Given the description of an element on the screen output the (x, y) to click on. 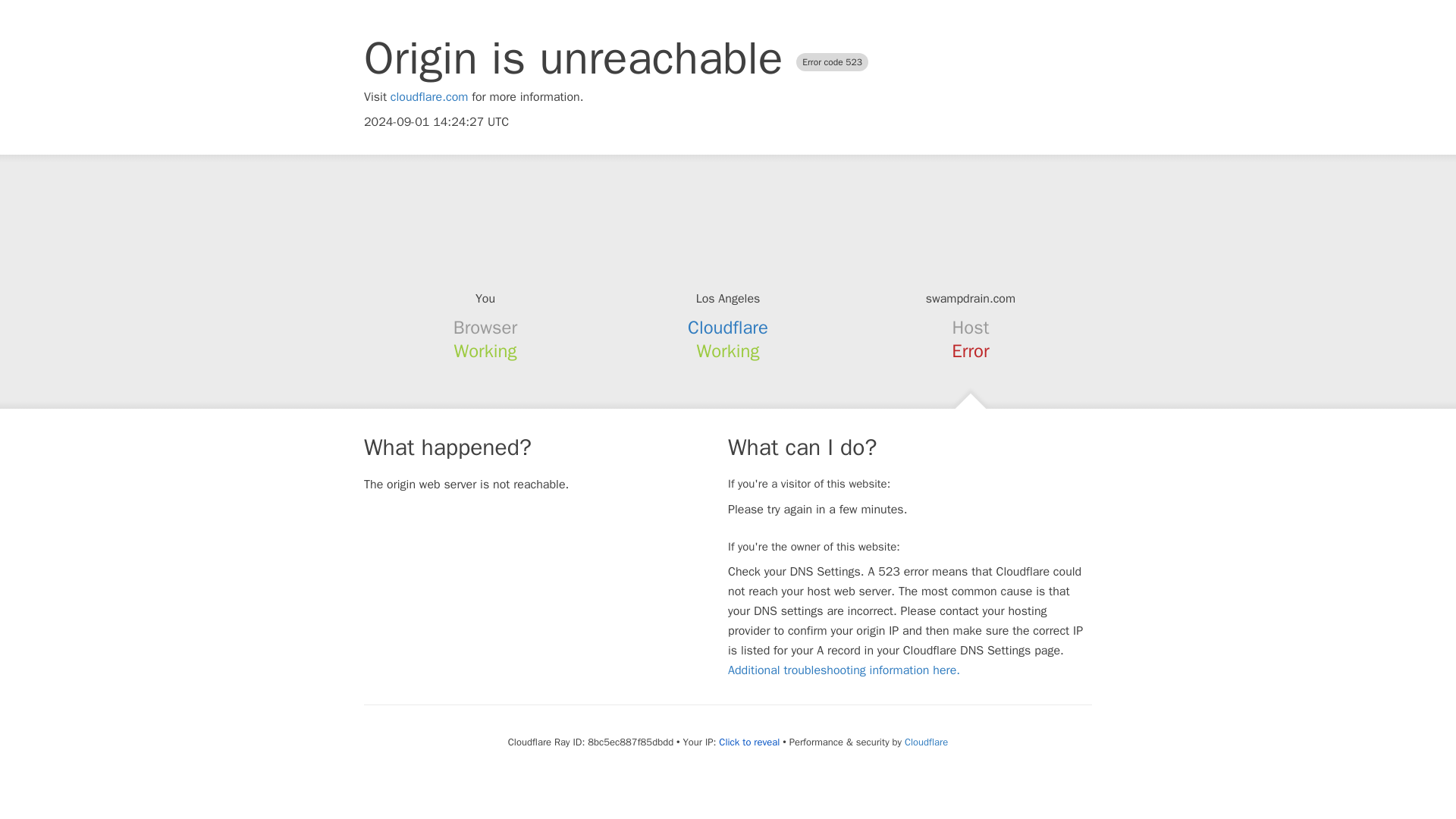
Cloudflare (727, 327)
cloudflare.com (429, 96)
Cloudflare (925, 741)
Additional troubleshooting information here. (843, 670)
Click to reveal (748, 742)
